Given the description of an element on the screen output the (x, y) to click on. 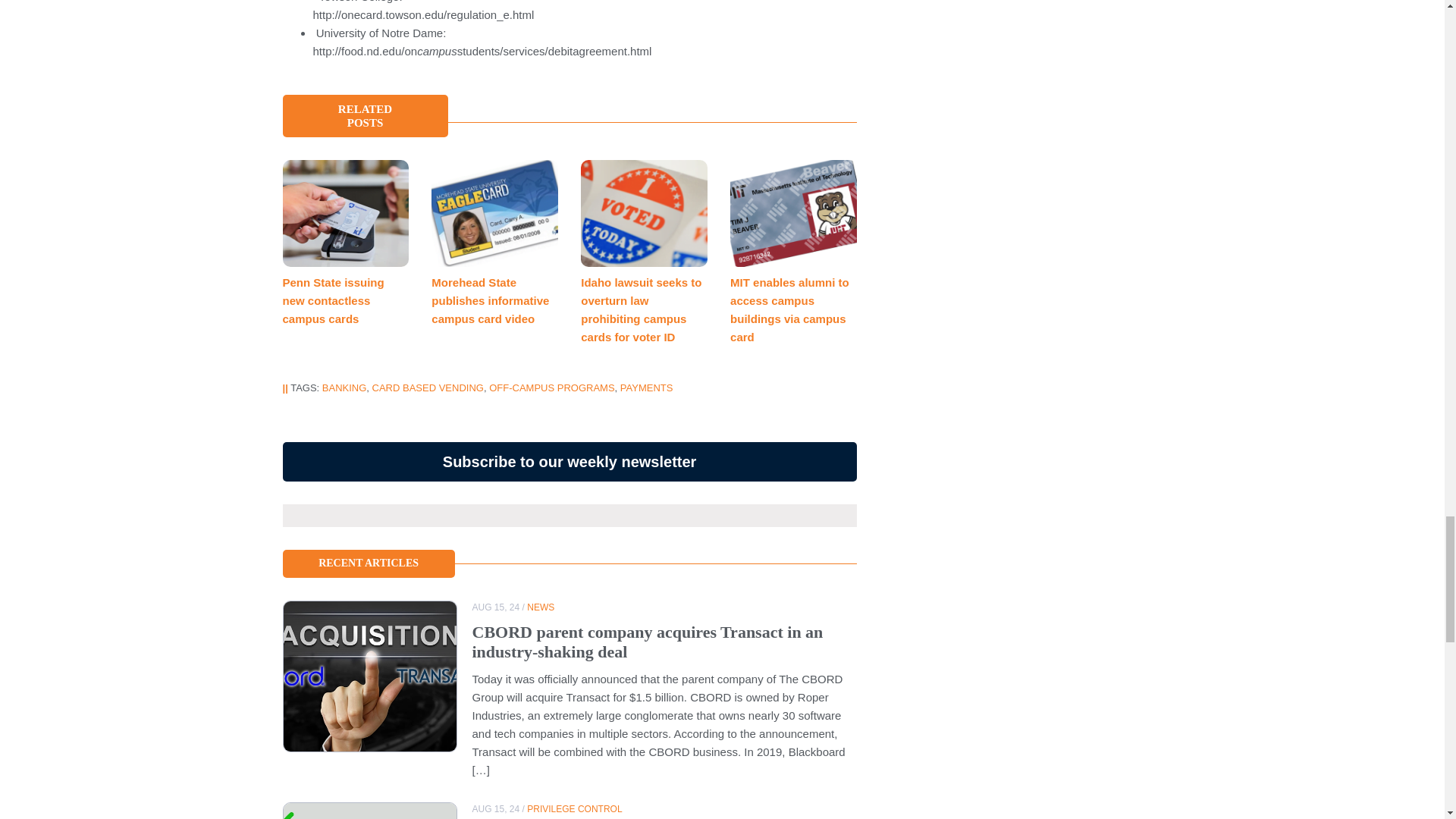
Penn State issuing new contactless campus cards (333, 300)
CARD BASED VENDING (427, 387)
PRIVILEGE CONTROL (574, 808)
PAYMENTS (646, 387)
Morehead State publishes informative campus card video (489, 300)
NEWS (540, 606)
OFF-CAMPUS PROGRAMS (551, 387)
BANKING (343, 387)
